Given the description of an element on the screen output the (x, y) to click on. 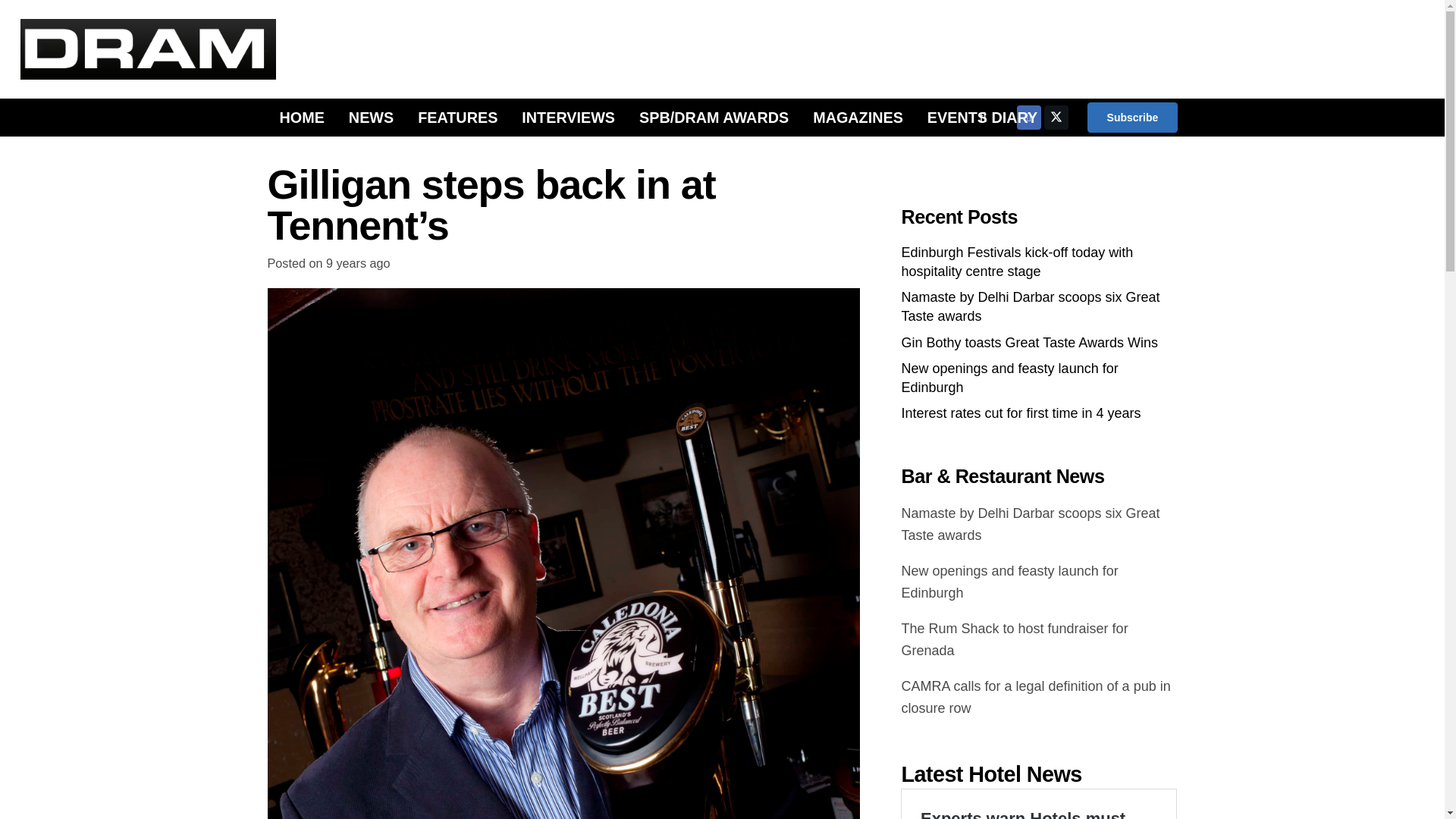
Subscribe (1131, 116)
HOME (301, 117)
MAGAZINES (857, 117)
EVENTS DIARY (982, 117)
Twitter (1055, 117)
INTERVIEWS (568, 117)
FEATURES (457, 117)
Facebook (1028, 117)
NEWS (371, 117)
